Given the description of an element on the screen output the (x, y) to click on. 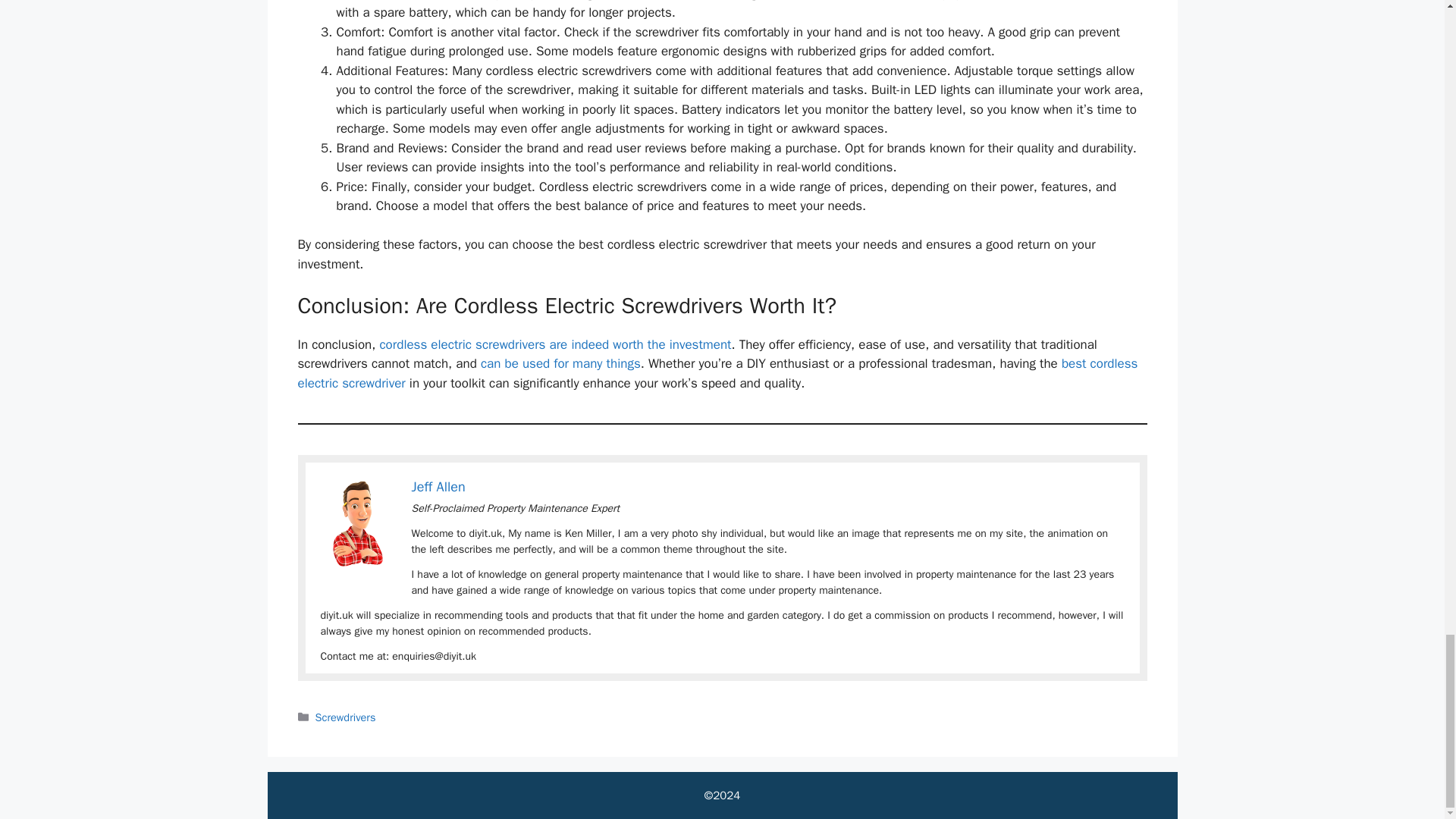
can be used for many things (560, 363)
Jeff Allen (437, 486)
Screwdrivers (345, 716)
best cordless electric screwdriver (717, 373)
